Given the description of an element on the screen output the (x, y) to click on. 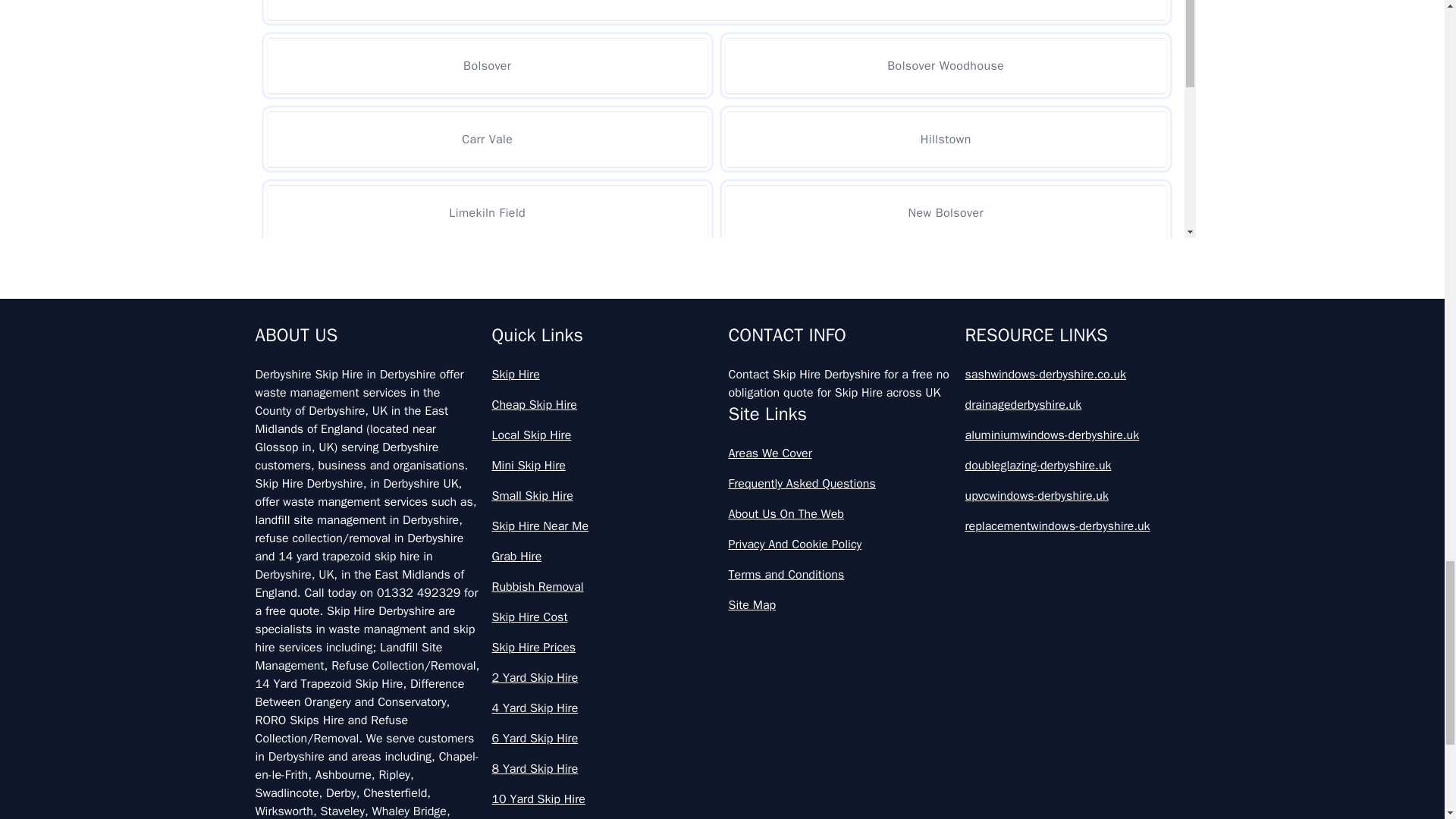
New Bolsover (945, 212)
Oxcroft (486, 285)
Limekiln Field (486, 212)
replacementwindows-derbyshire.uk (1076, 525)
Bolsover (486, 65)
Site Map (840, 605)
Carr Vale (486, 139)
doubleglazing-derbyshire.uk (1076, 465)
Oxcroft Estate (945, 285)
drainagederbyshire.uk (1076, 404)
Palterton (486, 359)
Rylah (945, 359)
aluminiumwindows-derbyshire.uk (1076, 434)
Bolsover (716, 9)
upvcwindows-derbyshire.uk (1076, 495)
